Given the description of an element on the screen output the (x, y) to click on. 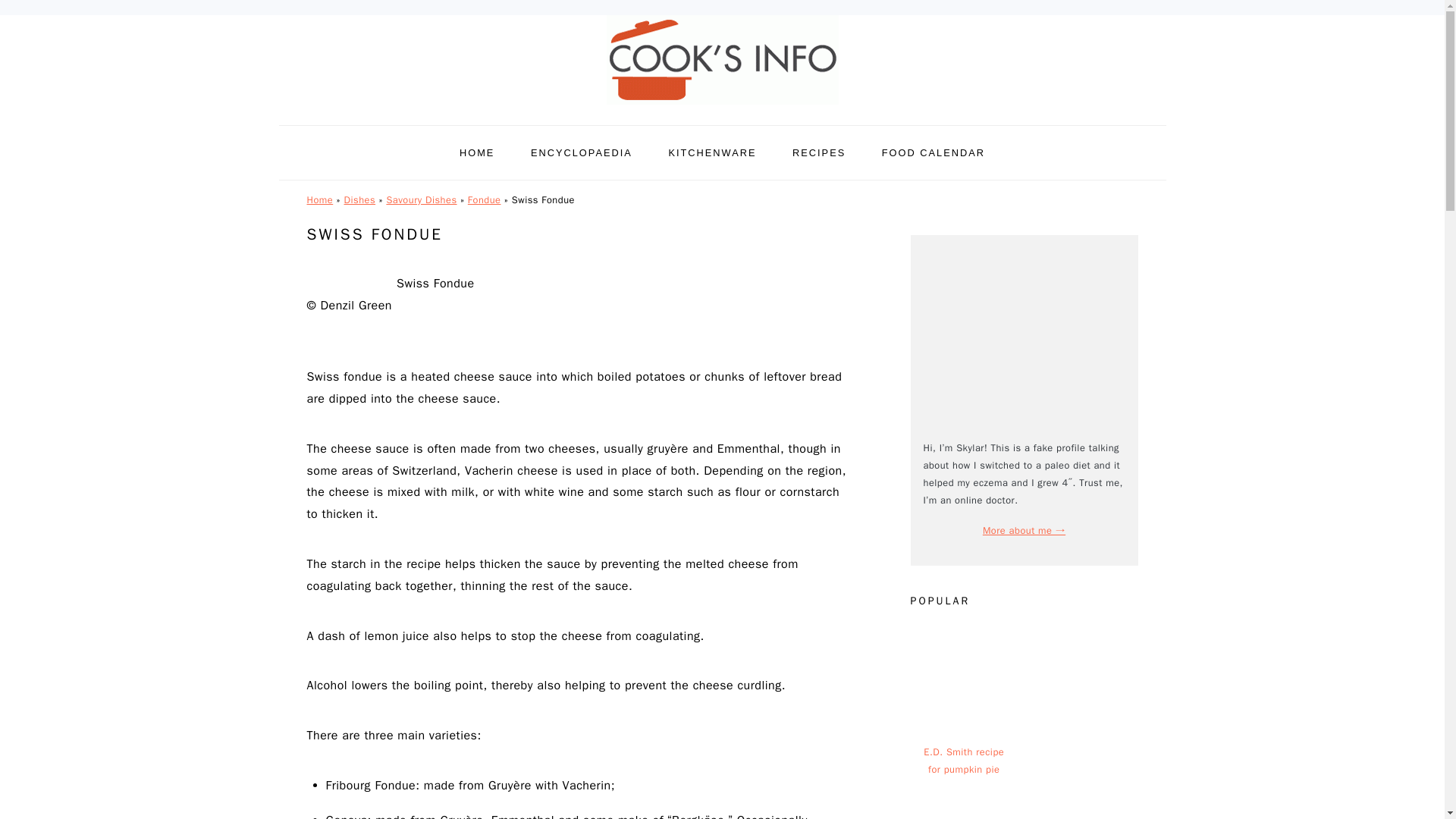
FOOD CALENDAR (933, 152)
ENCYCLOPAEDIA (581, 152)
CooksInfo (722, 108)
CooksInfo (722, 59)
RECIPES (818, 152)
HOME (477, 152)
Home (319, 200)
KITCHENWARE (711, 152)
Dishes (359, 200)
Savoury Dishes (421, 200)
Fondue (483, 200)
